Given the description of an element on the screen output the (x, y) to click on. 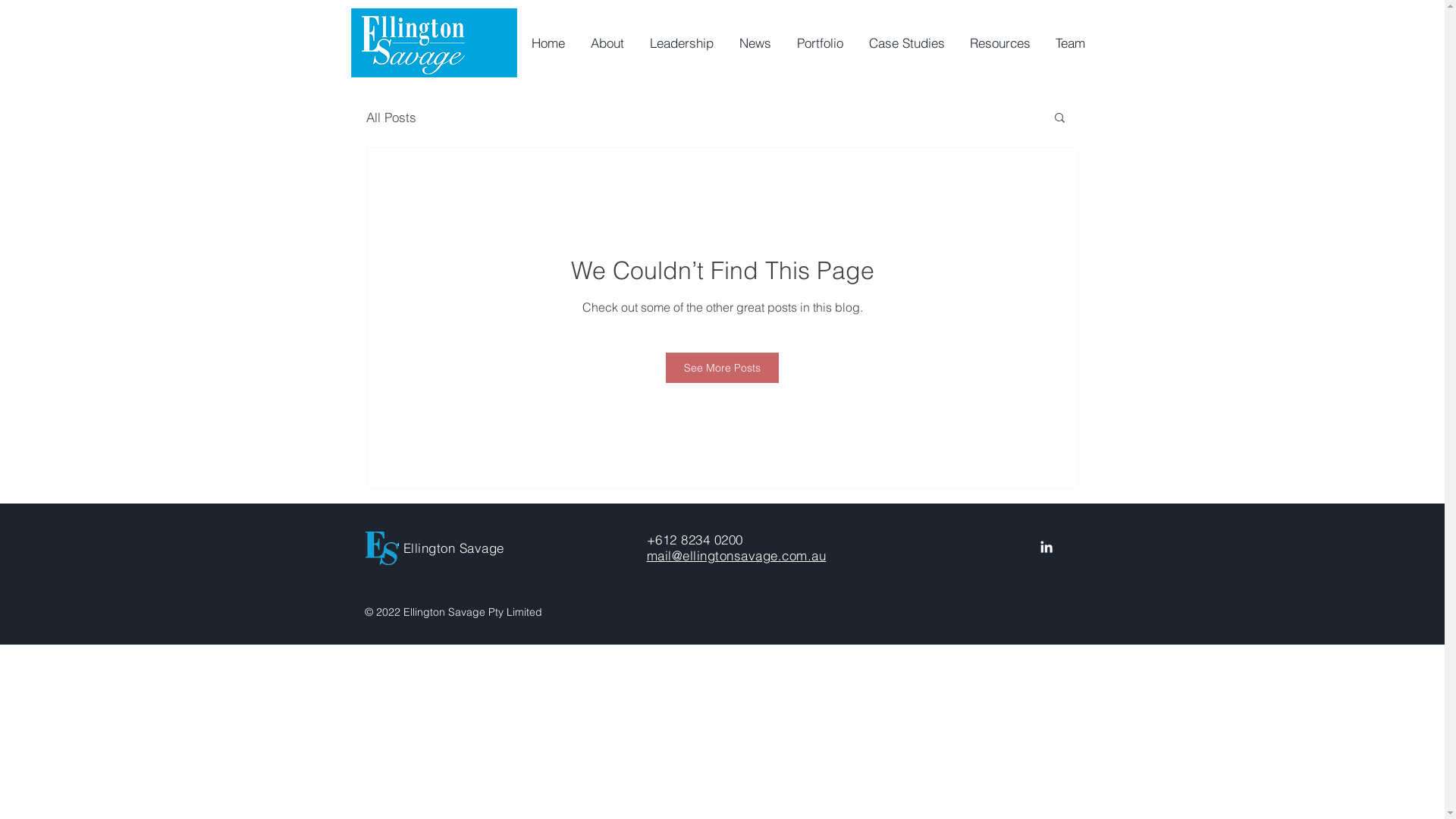
Portfolio Element type: text (818, 43)
See More Posts Element type: text (721, 367)
Home Element type: text (546, 43)
mail@ellingtonsavage.com.au Element type: text (735, 555)
Case Studies Element type: text (904, 43)
About Element type: text (605, 43)
Leadership Element type: text (679, 43)
News Element type: text (753, 43)
Ellington Savage Element type: text (453, 547)
Resources Element type: text (998, 43)
Team Element type: text (1068, 43)
All Posts Element type: text (390, 117)
